Given the description of an element on the screen output the (x, y) to click on. 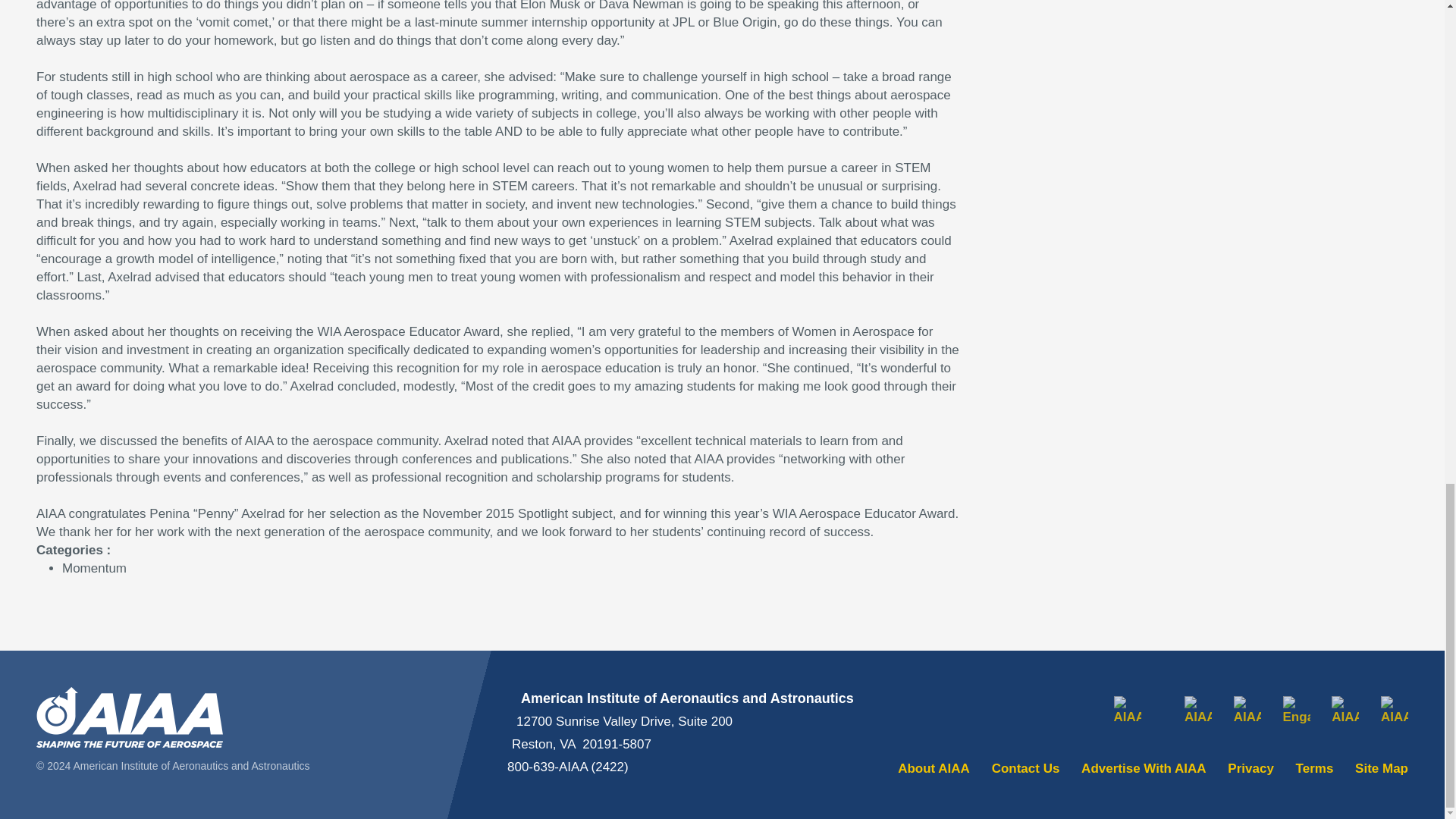
Engage (1296, 709)
LinkedIn (1198, 709)
Flickr (1393, 709)
Instagram (1246, 709)
Facebook (1127, 709)
YouTube (1345, 709)
